Given the description of an element on the screen output the (x, y) to click on. 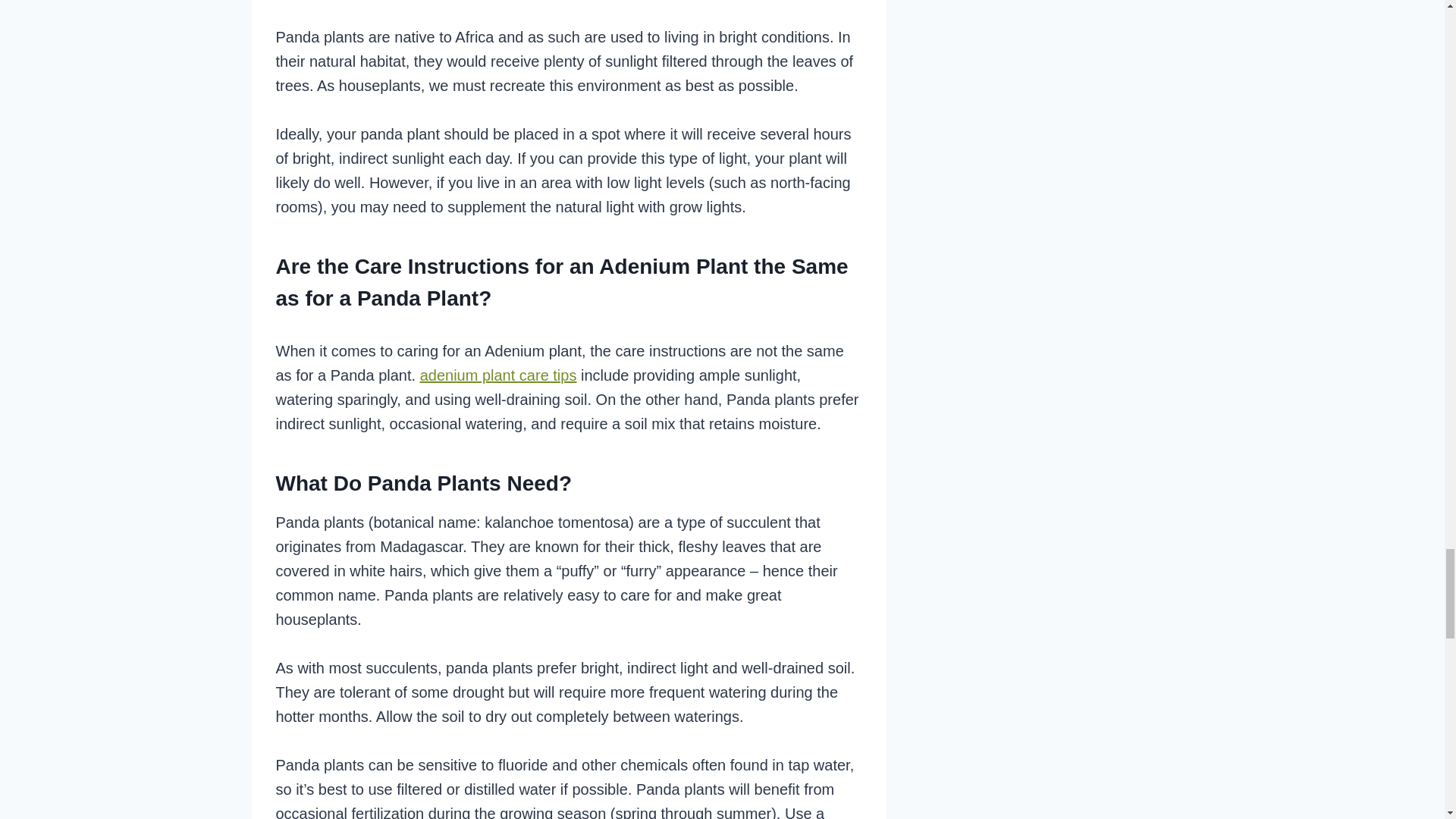
adenium plant care tips (498, 375)
